Given the description of an element on the screen output the (x, y) to click on. 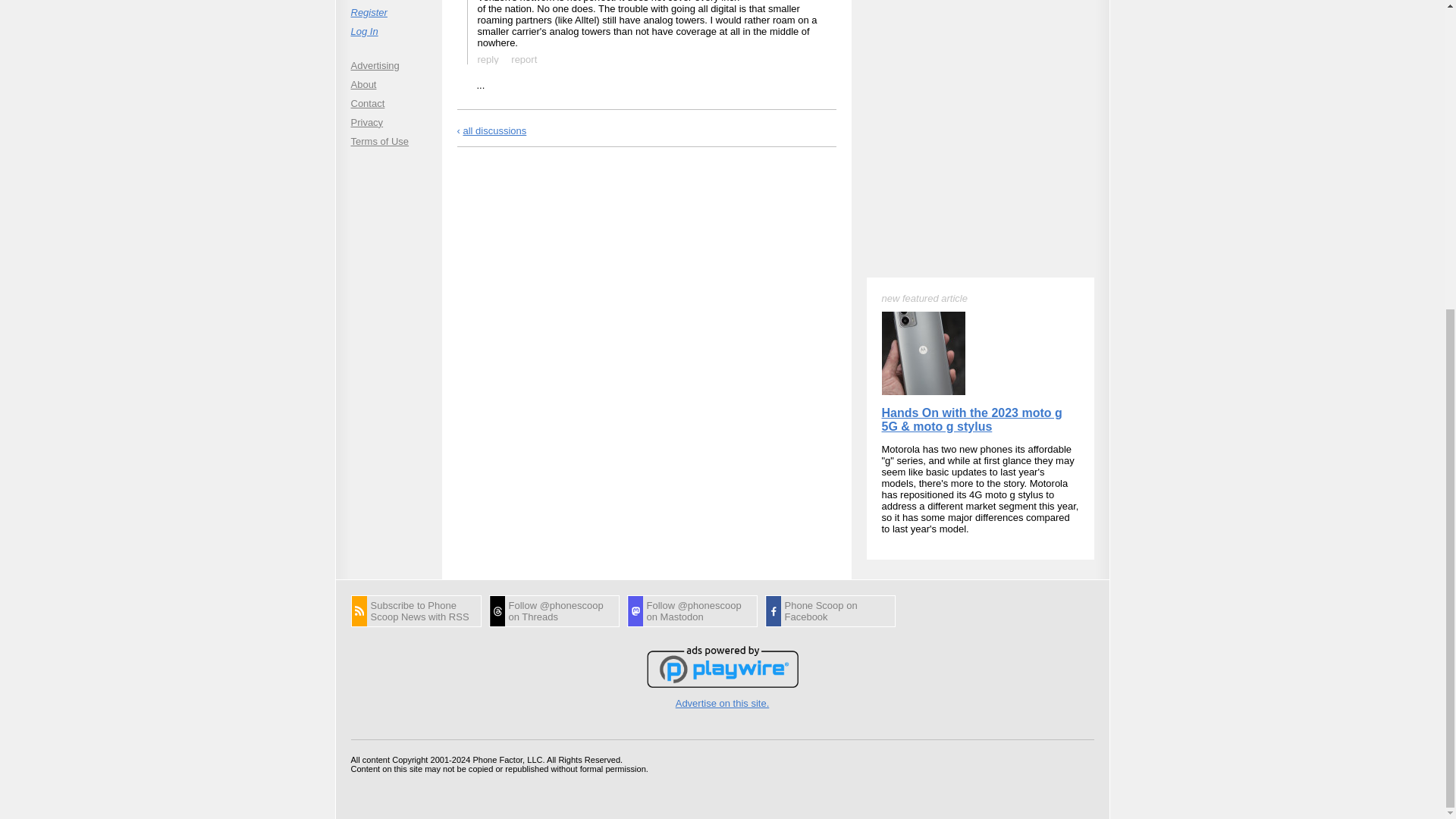
Advertising (387, 65)
About (387, 83)
Privacy (387, 121)
Log In (387, 30)
report (523, 101)
reply (486, 101)
Phone Scoop: News (415, 611)
Terms of Use (387, 140)
Contact (387, 103)
report (523, 58)
